Given the description of an element on the screen output the (x, y) to click on. 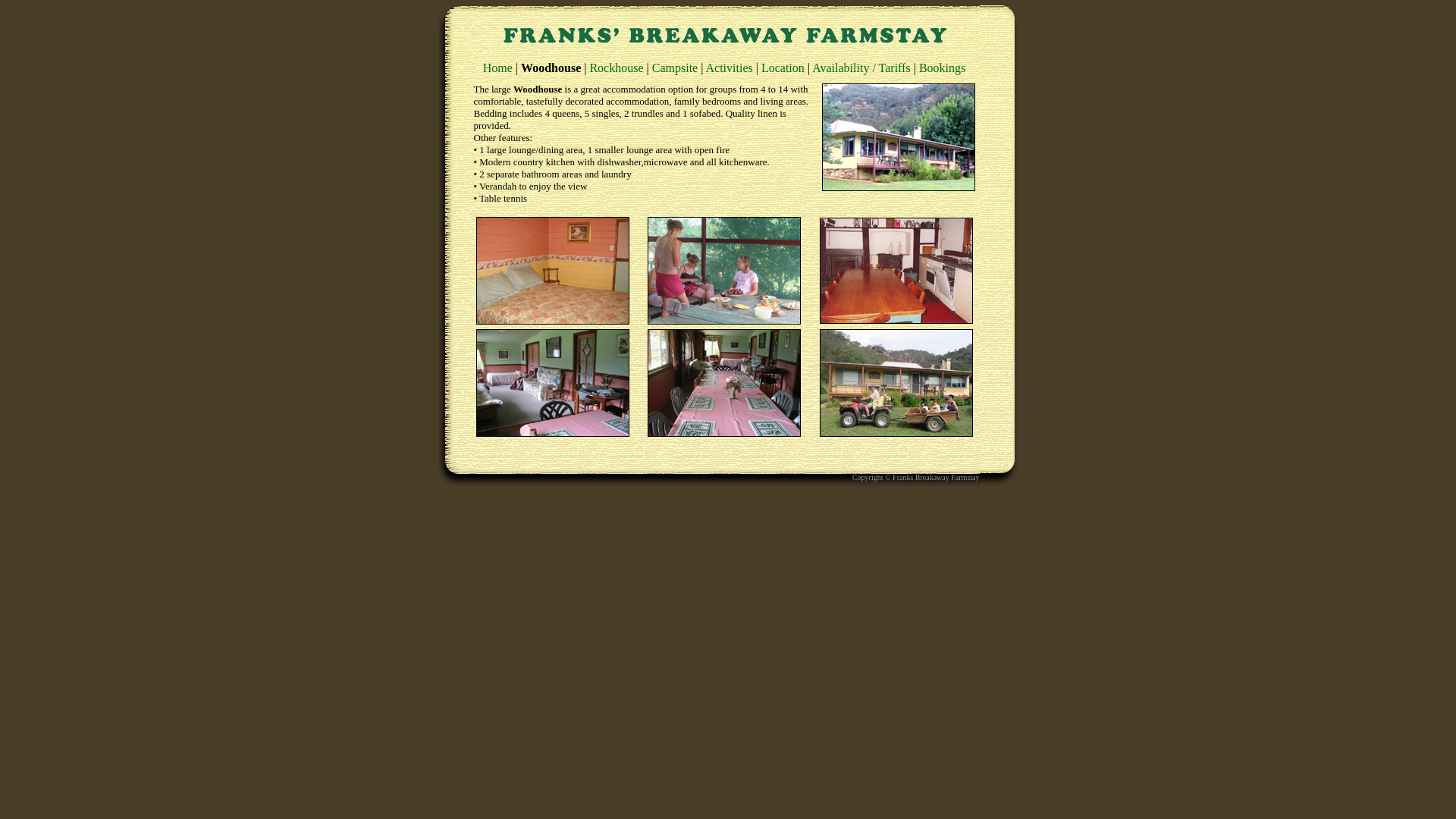
Home Element type: text (497, 67)
Rockhouse Element type: text (616, 67)
Location Element type: text (782, 67)
Activities Element type: text (729, 67)
Availability / Tariffs Element type: text (861, 67)
Campsite Element type: text (674, 67)
Bookings Element type: text (942, 67)
